Given the description of an element on the screen output the (x, y) to click on. 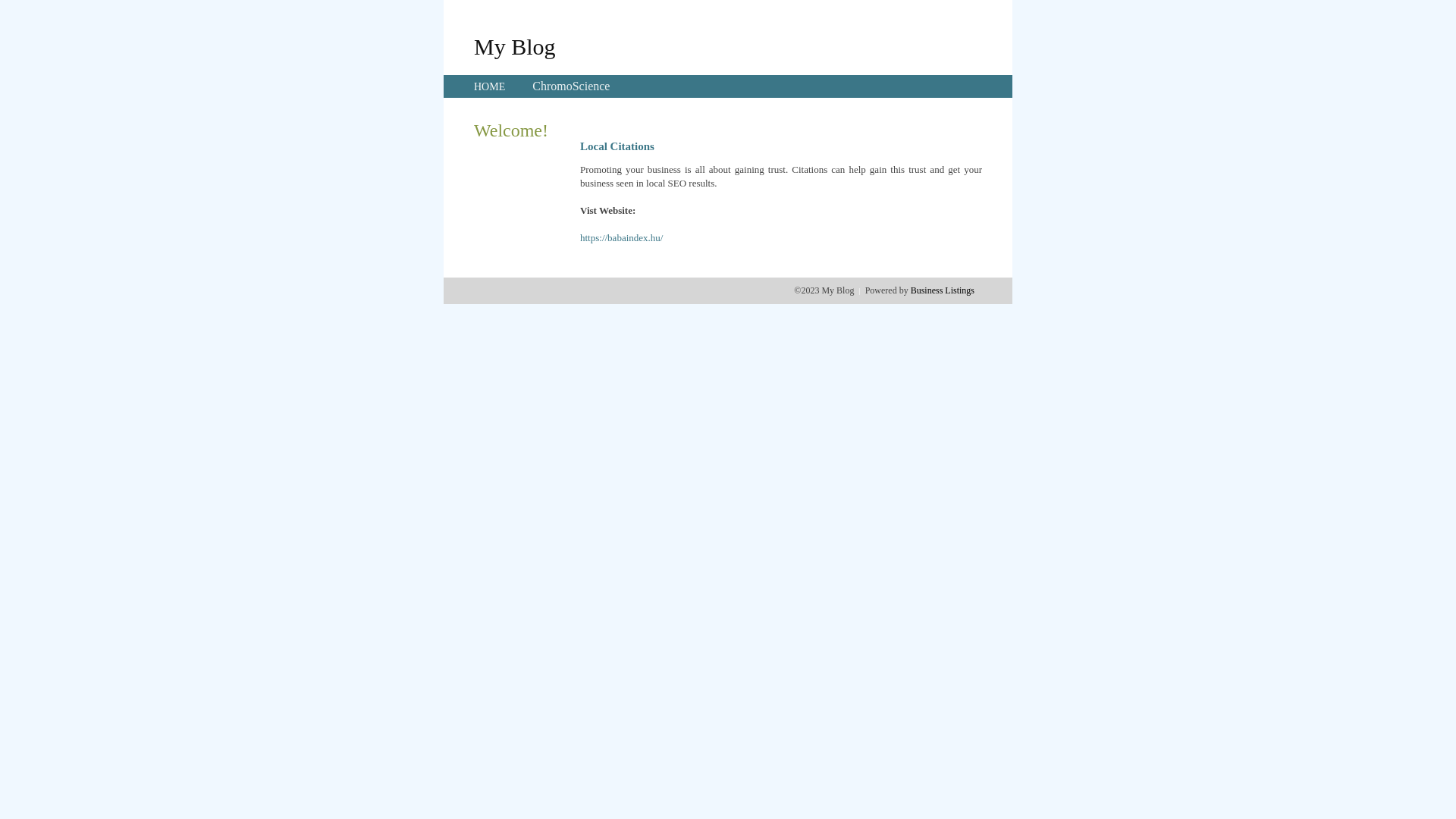
https://babaindex.hu/ Element type: text (621, 237)
Business Listings Element type: text (942, 290)
HOME Element type: text (489, 86)
My Blog Element type: text (514, 46)
ChromoScience Element type: text (570, 85)
